Given the description of an element on the screen output the (x, y) to click on. 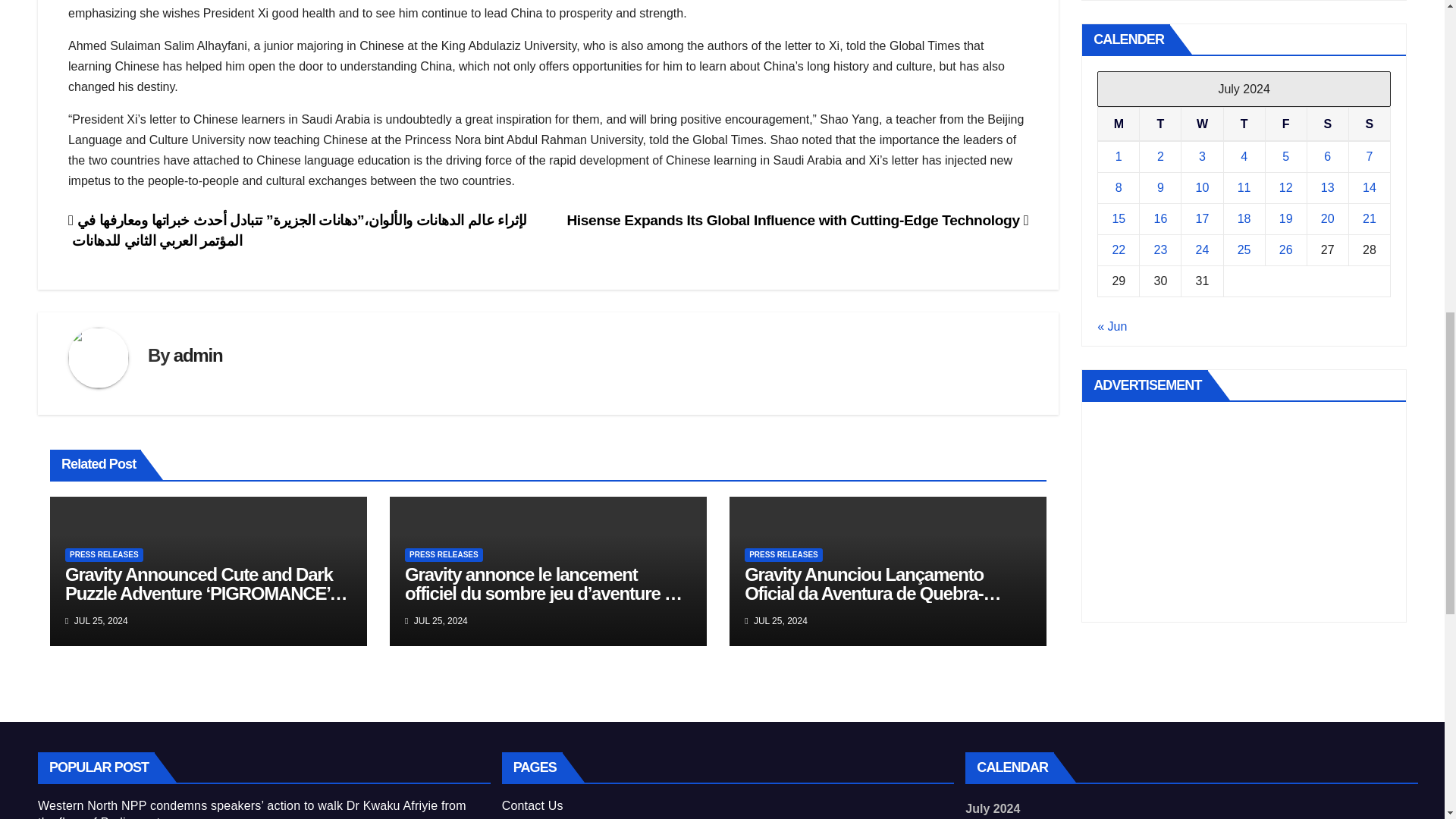
Monday (1118, 123)
admin (197, 354)
PRESS RELEASES (103, 554)
PRESS RELEASES (443, 554)
Tuesday (1160, 123)
PRESS RELEASES (783, 554)
